Given the description of an element on the screen output the (x, y) to click on. 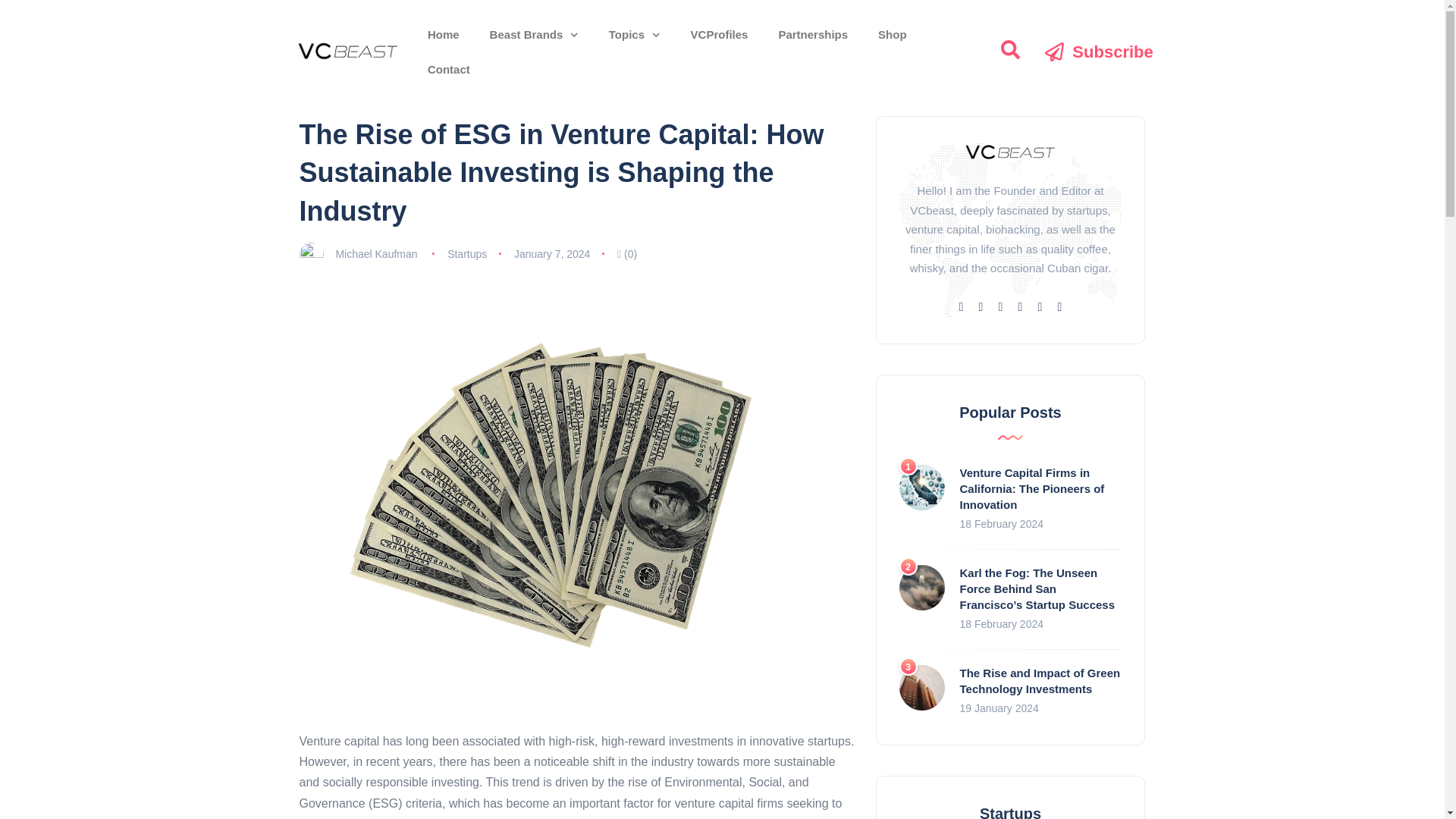
Go to the Startups Category archives. (371, 91)
Posts by Michael Kaufman (375, 254)
Go to My Blog. (317, 91)
